Given the description of an element on the screen output the (x, y) to click on. 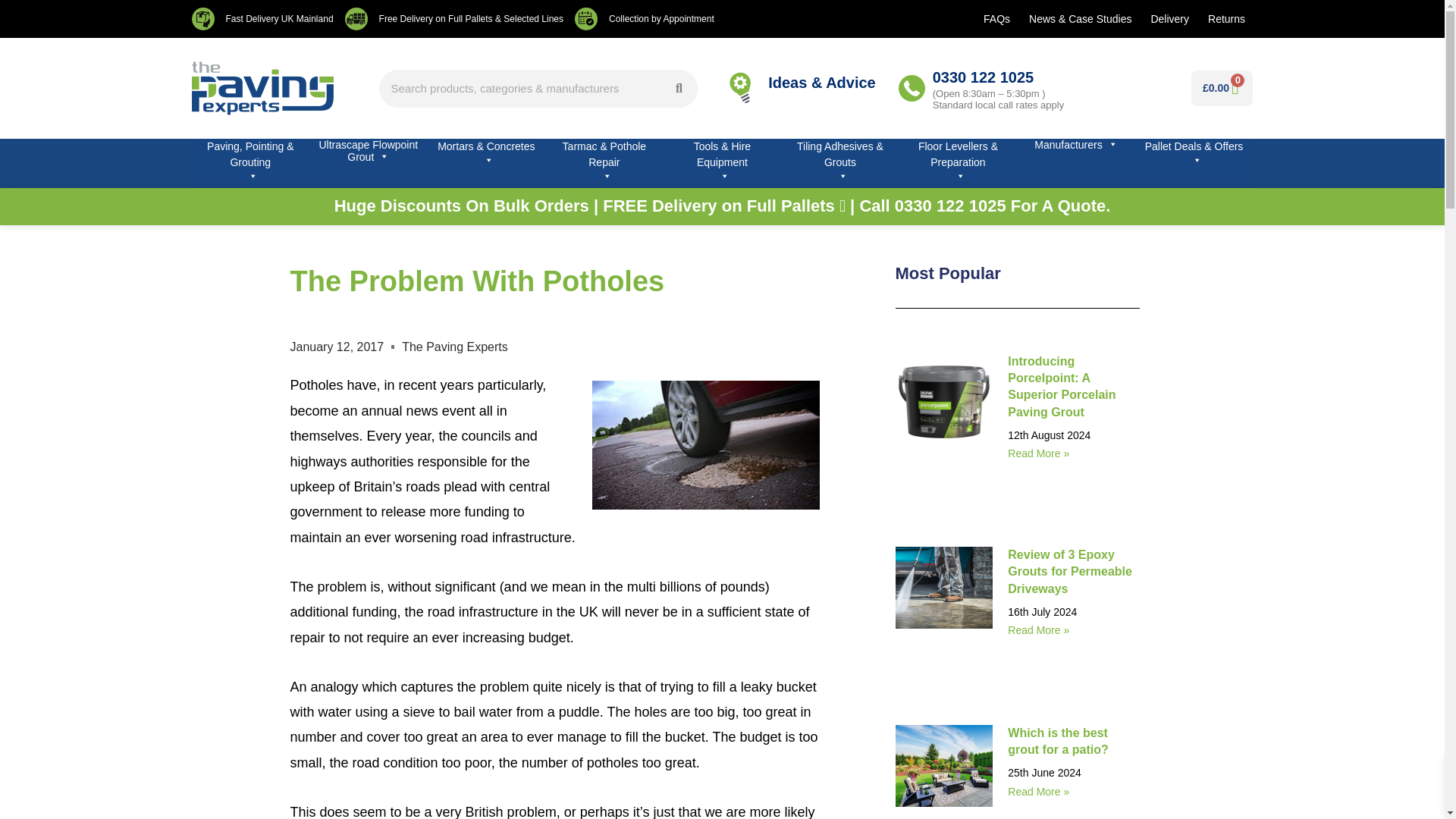
Delivery (1169, 18)
FAQs (996, 18)
0330 122 1025 (983, 76)
Returns (1225, 18)
Search (678, 88)
